Given the description of an element on the screen output the (x, y) to click on. 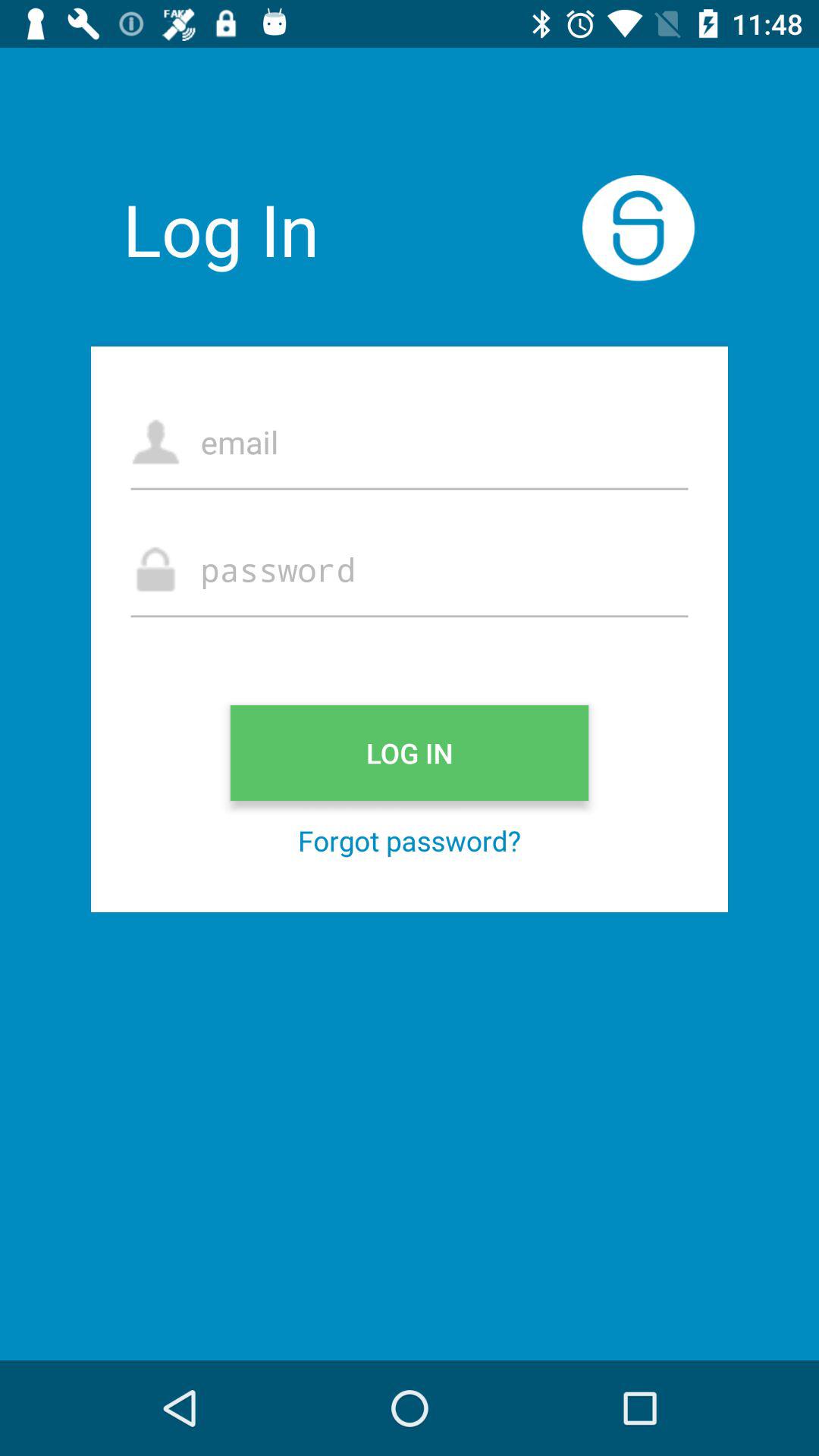
type password (409, 569)
